Given the description of an element on the screen output the (x, y) to click on. 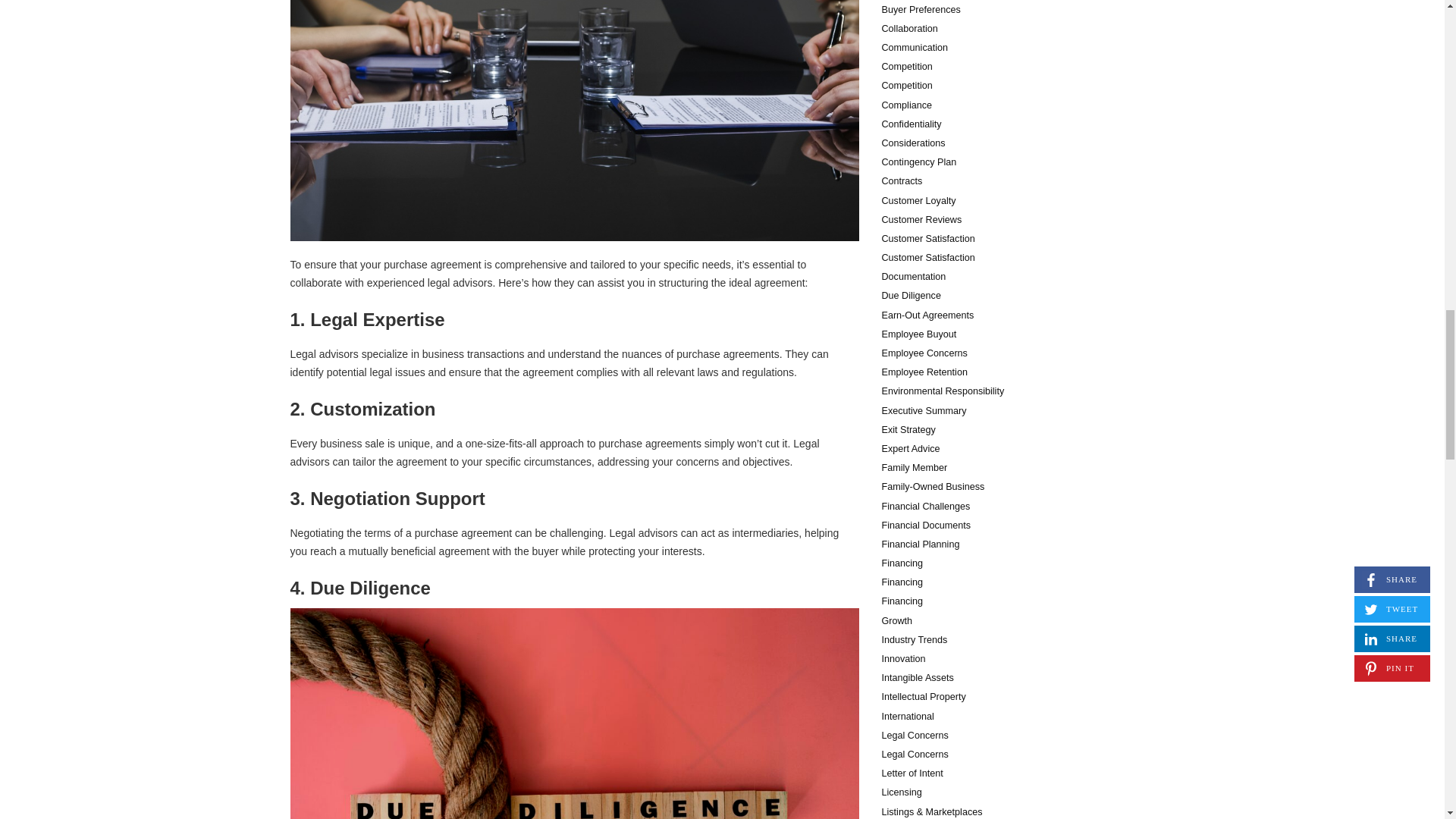
Financial concept due diligence - sellmybusiness-io (574, 713)
